Given the description of an element on the screen output the (x, y) to click on. 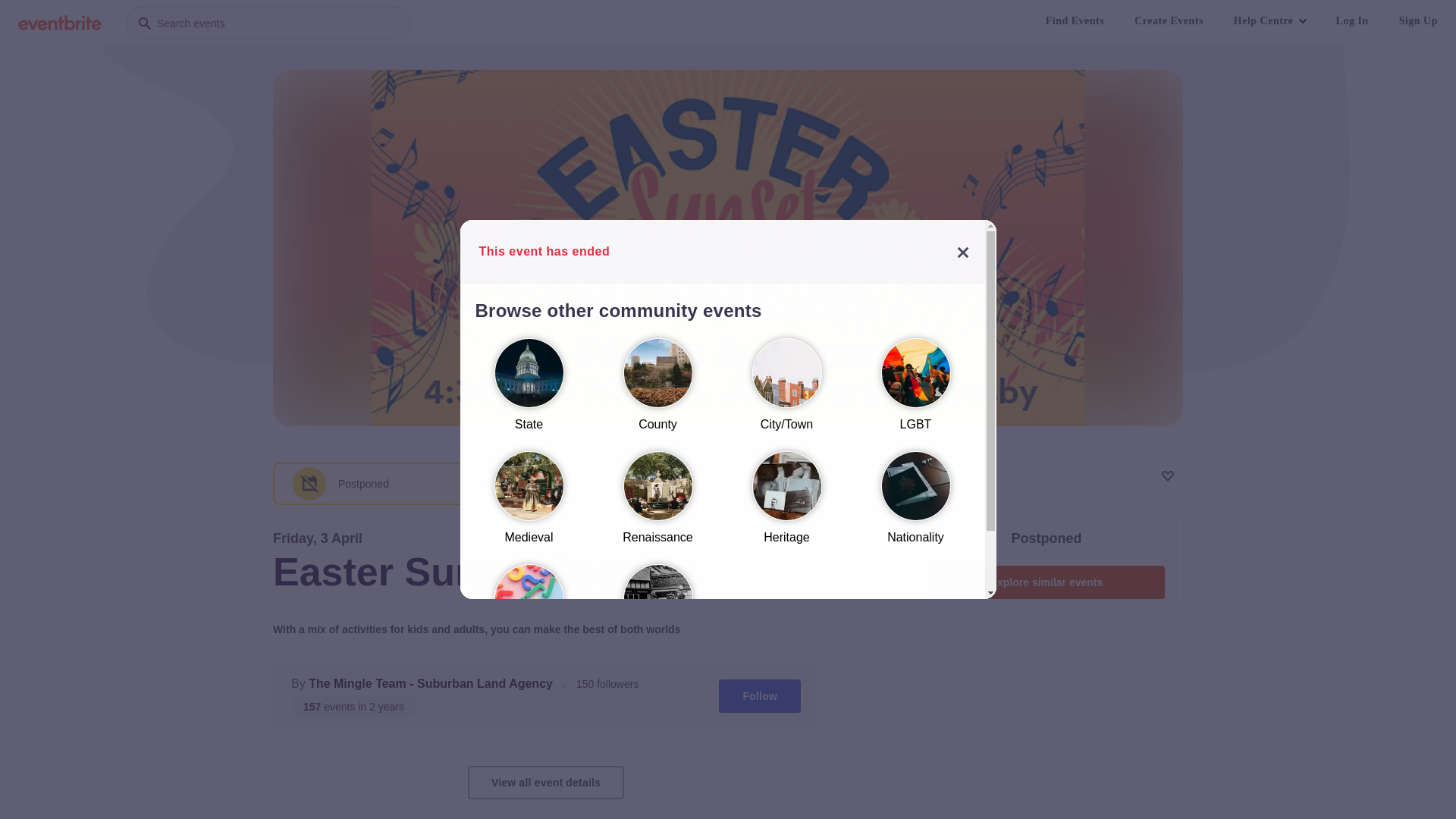
Find Events Element type: text (1074, 21)
View all event details Element type: text (545, 782)
Heritage Element type: text (785, 504)
County Element type: text (657, 391)
Sign Up Element type: text (1417, 21)
Nationality Element type: text (914, 504)
State Element type: text (528, 391)
Log In Element type: text (1352, 21)
LGBT Element type: text (914, 391)
Follow Element type: text (759, 695)
Create Events Element type: text (1168, 21)
Eventbrite Element type: hover (59, 22)
Historic Element type: text (657, 617)
Explore similar events Element type: text (1046, 582)
Language Element type: text (528, 617)
City/Town Element type: text (785, 391)
Search events Element type: text (268, 22)
Renaissance Element type: text (657, 504)
Medieval Element type: text (528, 504)
